Given the description of an element on the screen output the (x, y) to click on. 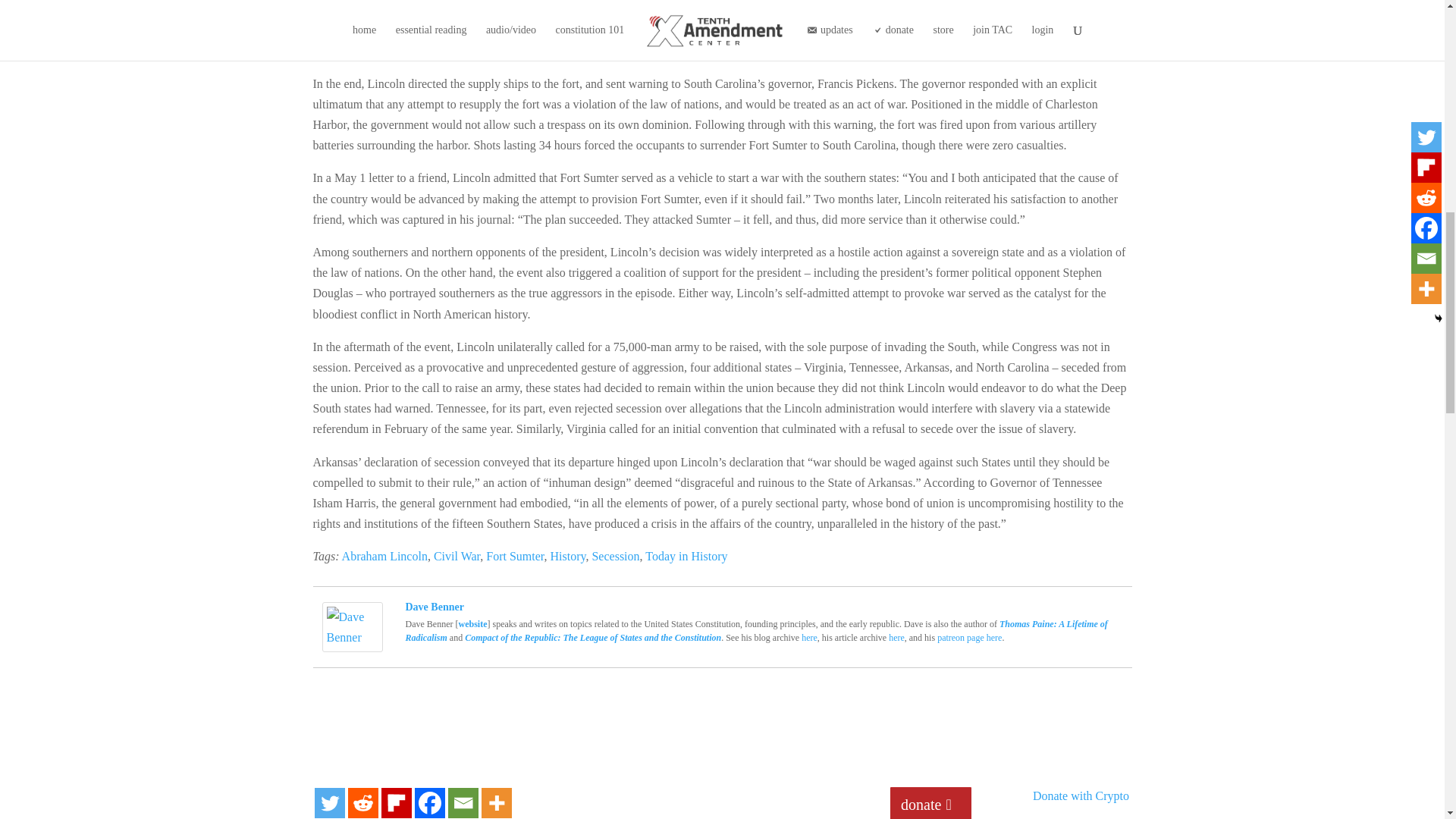
Reddit (362, 802)
Facebook (428, 802)
Email (461, 802)
Flipboard (395, 802)
Twitter (328, 802)
Dave Benner (351, 641)
